Given the description of an element on the screen output the (x, y) to click on. 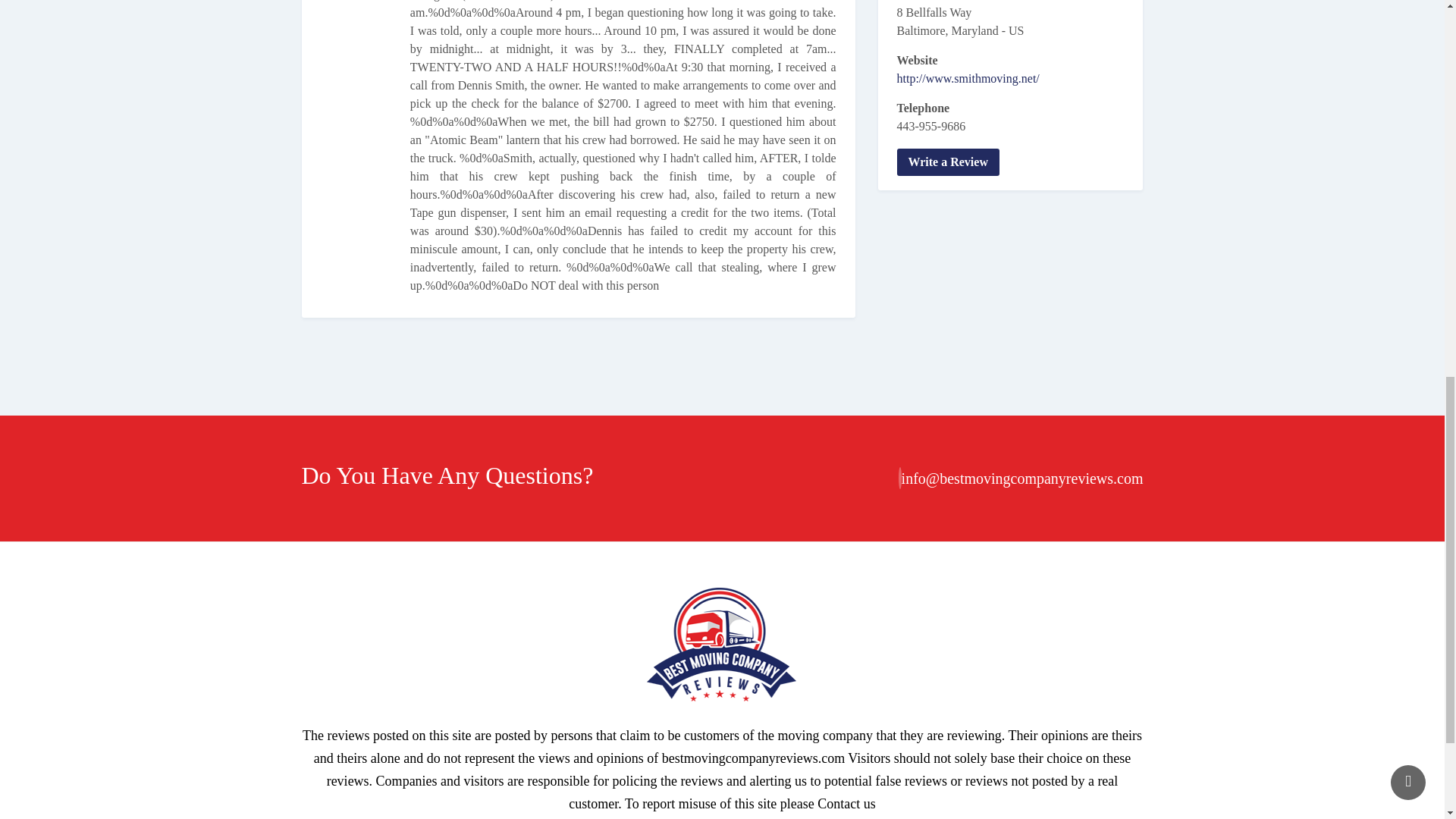
Write a Review (947, 162)
